Given the description of an element on the screen output the (x, y) to click on. 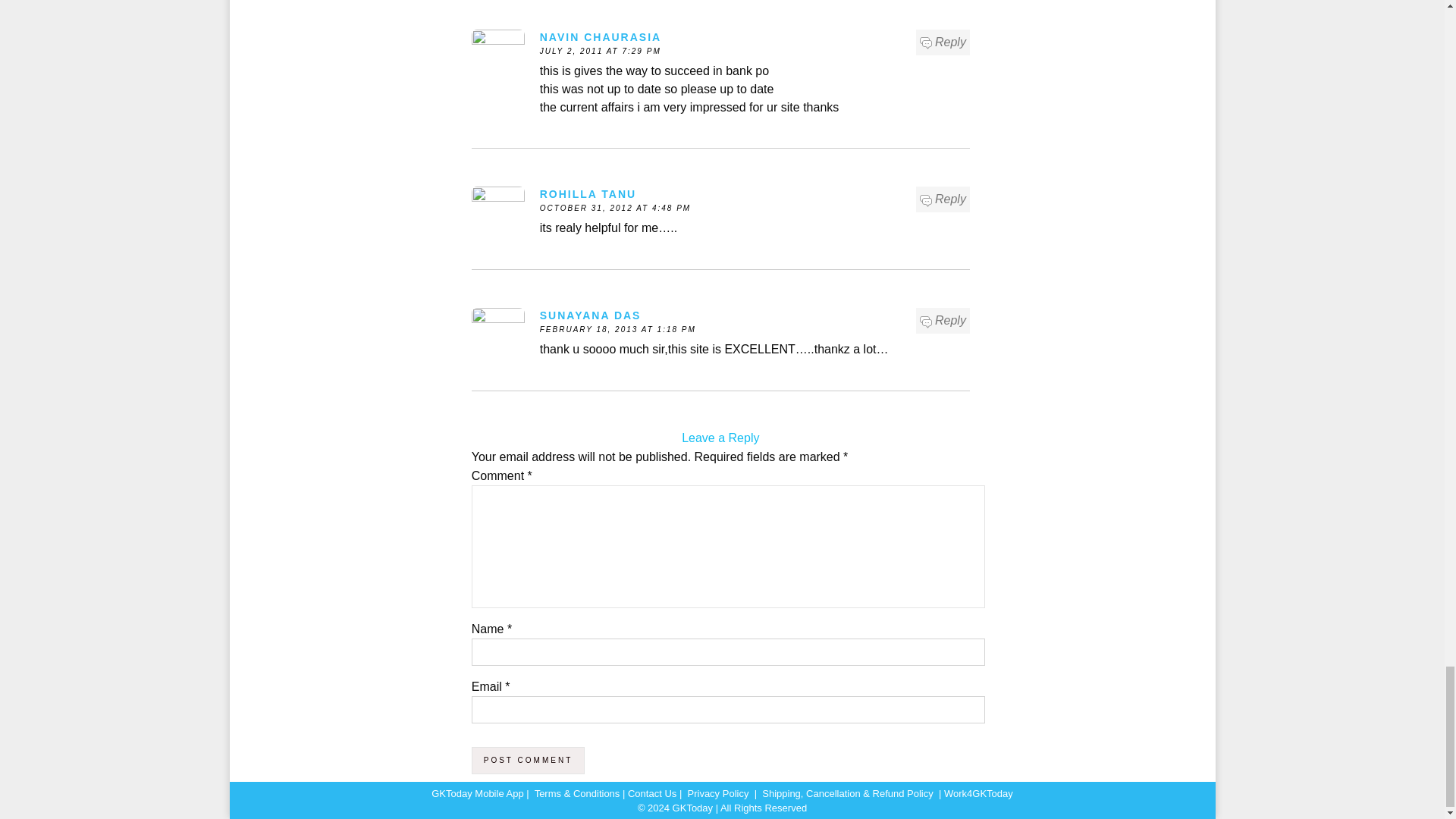
Reply (943, 321)
Post Comment (528, 759)
Reply (943, 42)
Post Comment (528, 759)
Reply (943, 199)
